Given the description of an element on the screen output the (x, y) to click on. 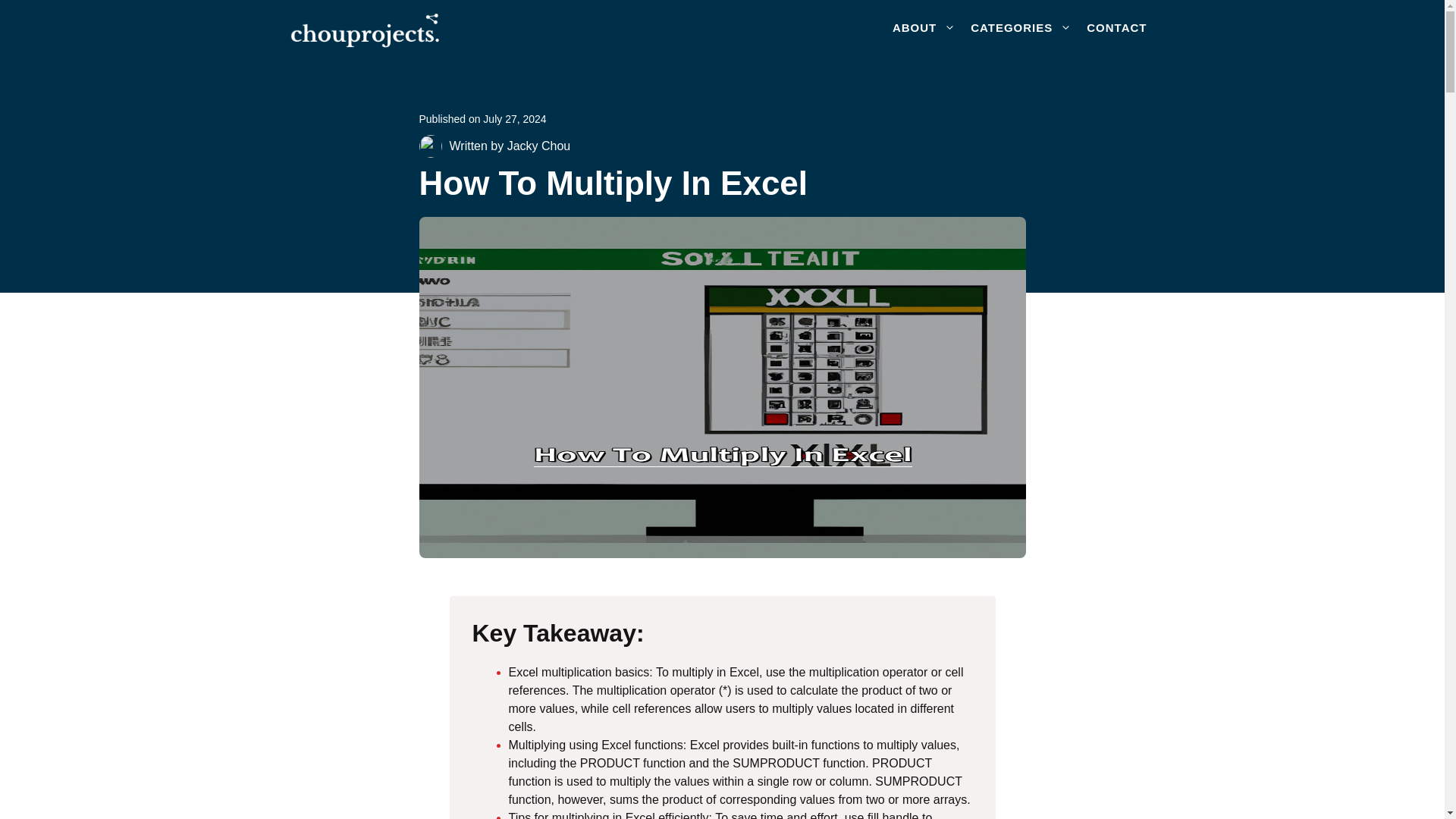
CONTACT (1116, 27)
ABOUT (923, 27)
CATEGORIES (1020, 27)
